Given the description of an element on the screen output the (x, y) to click on. 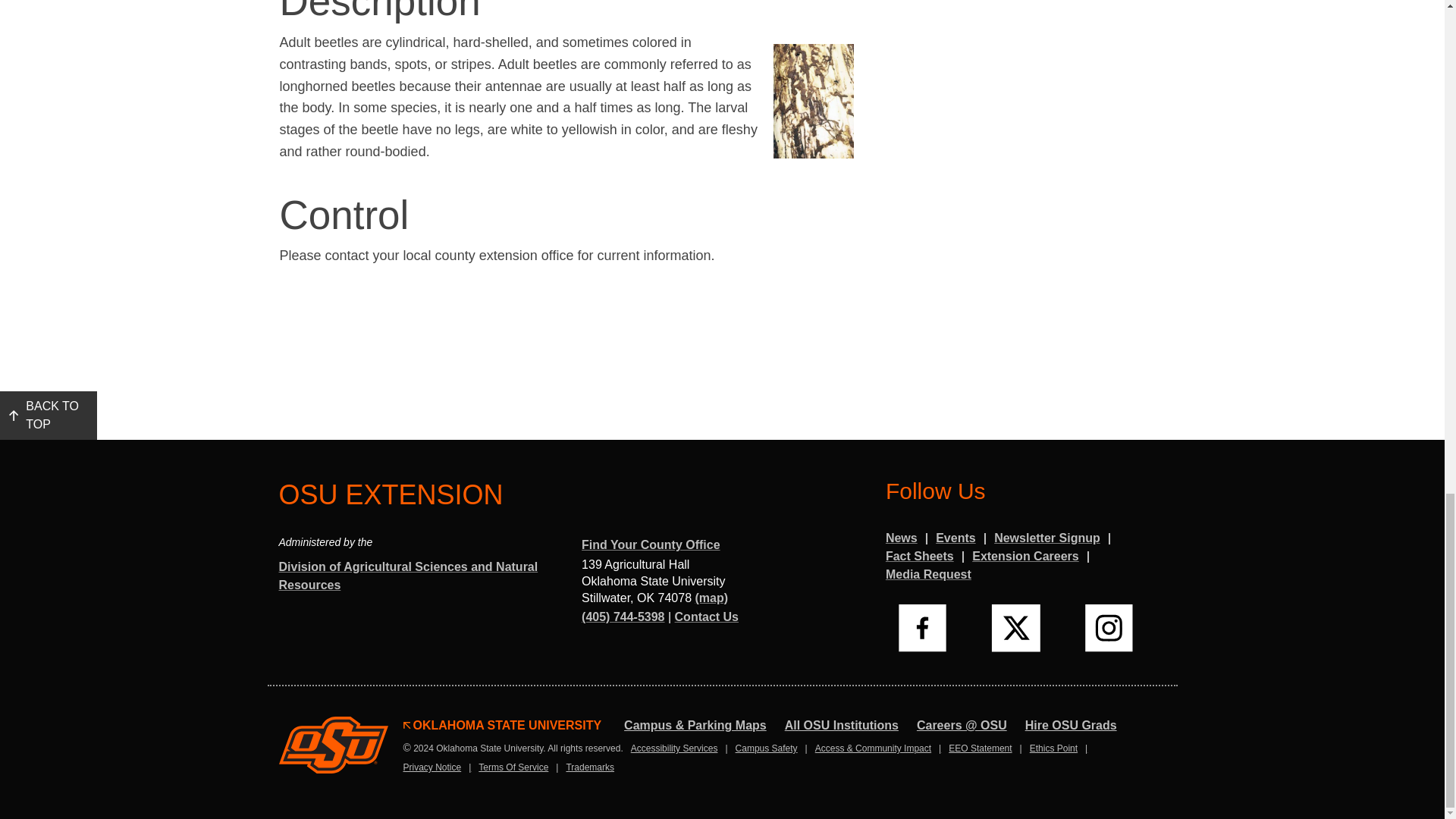
Find Your County Office (650, 546)
Division of Agricultural Sciences and Natural Resources (419, 577)
BACK TO TOP (48, 415)
